Given the description of an element on the screen output the (x, y) to click on. 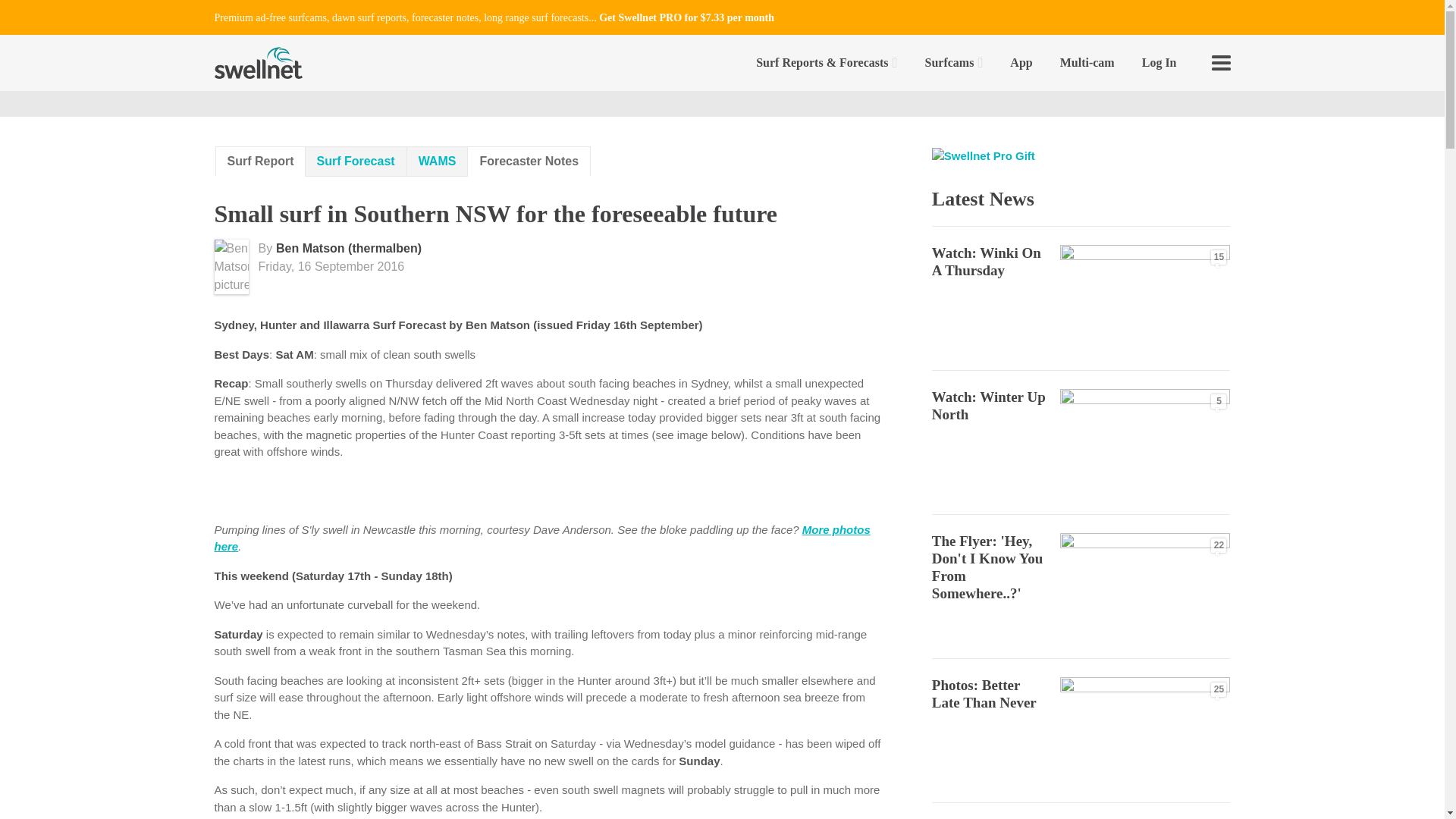
Swellnet (257, 62)
Surfcams (954, 62)
More photos here (541, 538)
Surf Report (260, 161)
Multi-cam (1087, 62)
Log In (1159, 62)
Forecaster Notes (529, 161)
WAMS (437, 161)
Surf Forecast (355, 161)
